Given the description of an element on the screen output the (x, y) to click on. 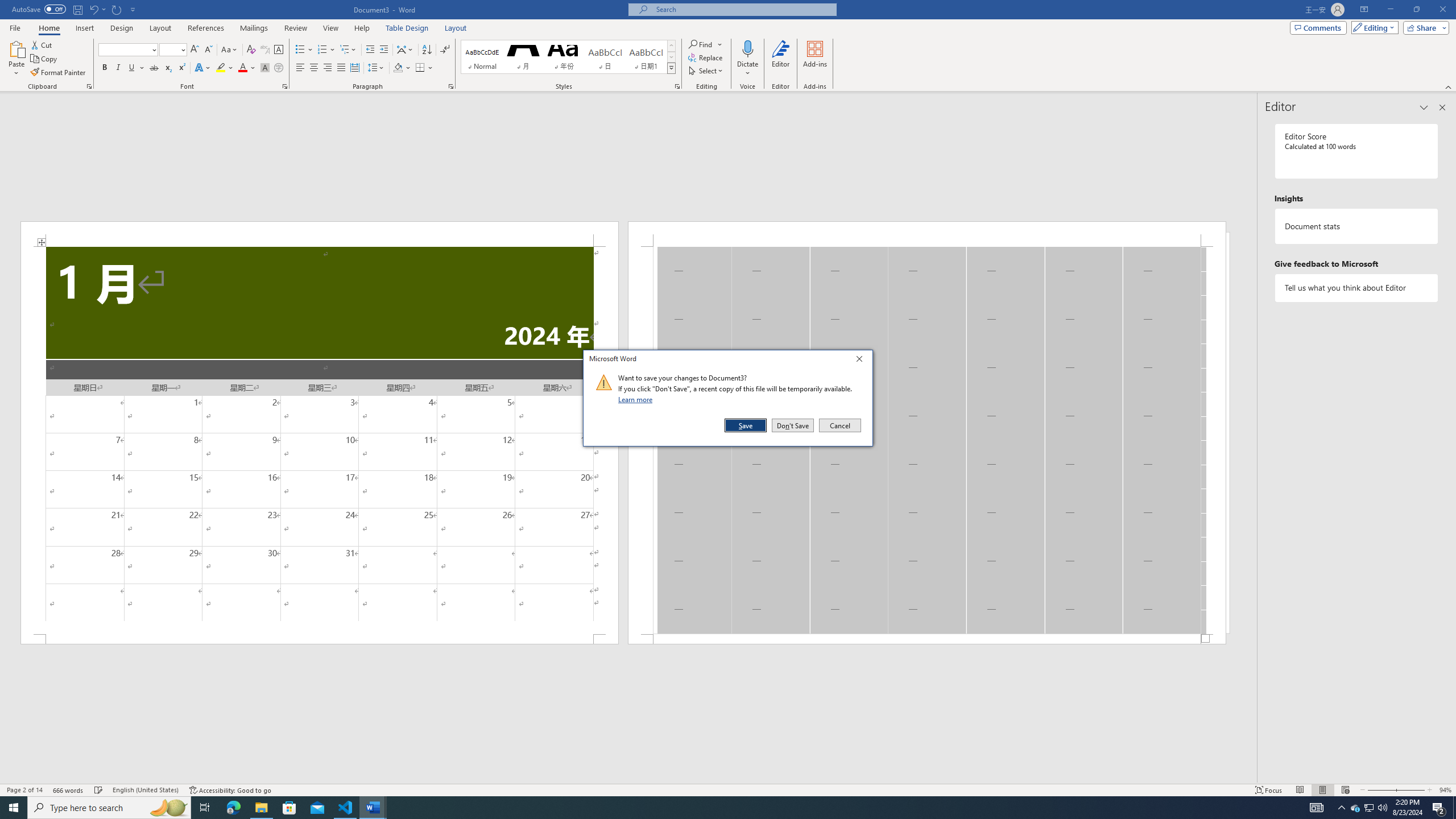
Microsoft Edge (233, 807)
Cancel (839, 425)
